Given the description of an element on the screen output the (x, y) to click on. 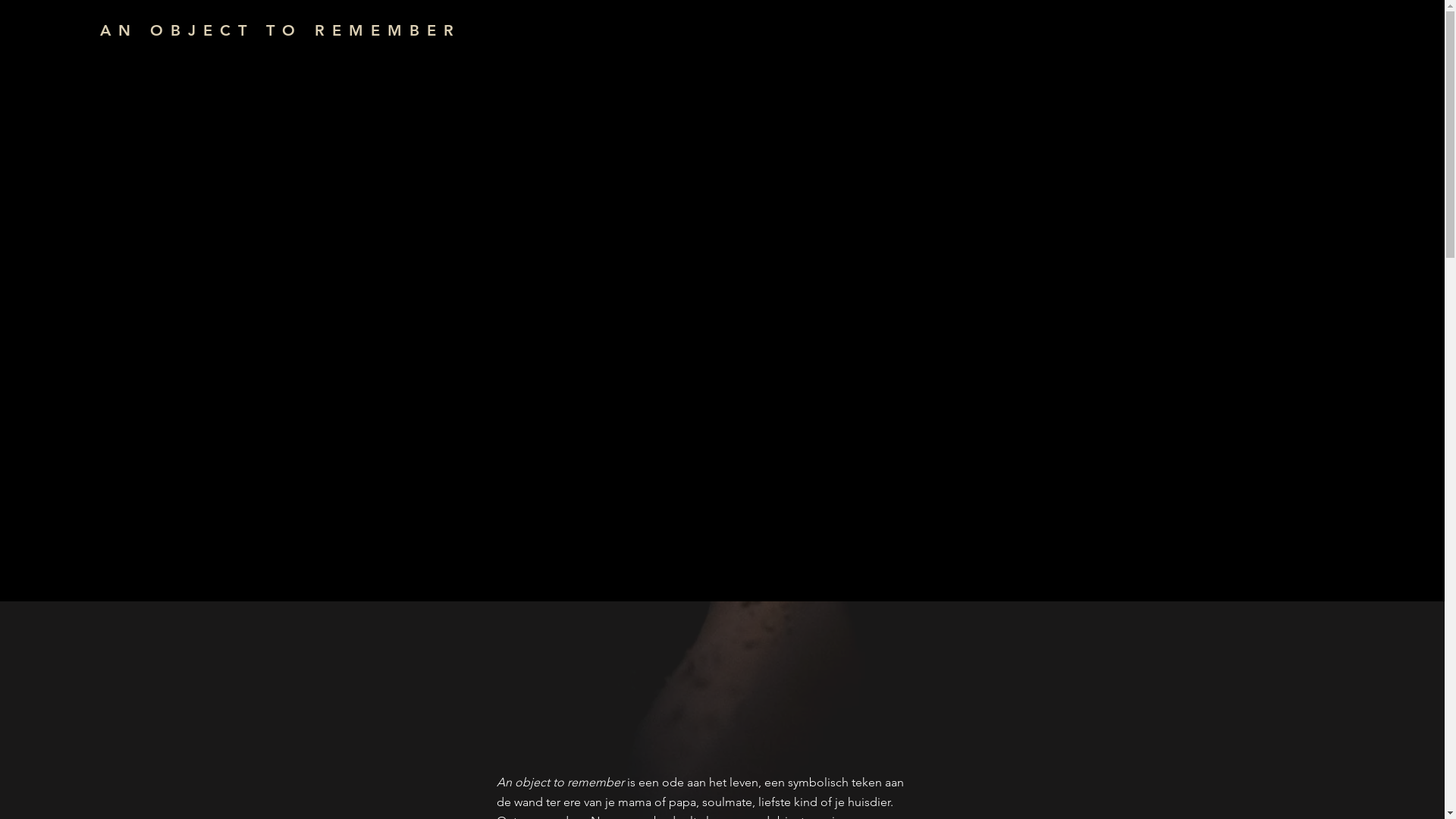
AN OBJECT TO REMEMBER Element type: text (281, 30)
